Given the description of an element on the screen output the (x, y) to click on. 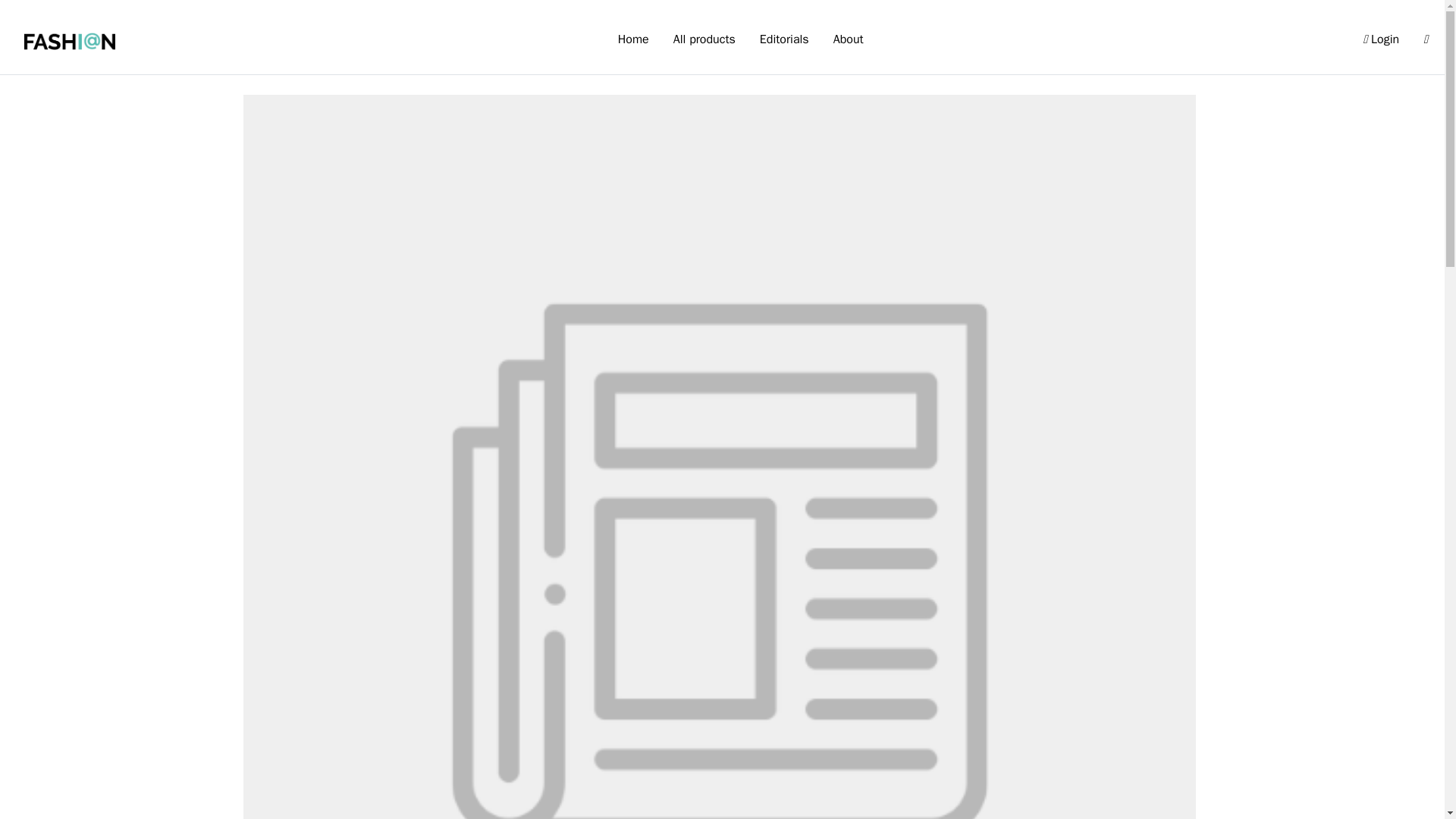
About (848, 40)
All products (703, 40)
Home (633, 40)
Login (1380, 39)
Editorials (784, 40)
